Given the description of an element on the screen output the (x, y) to click on. 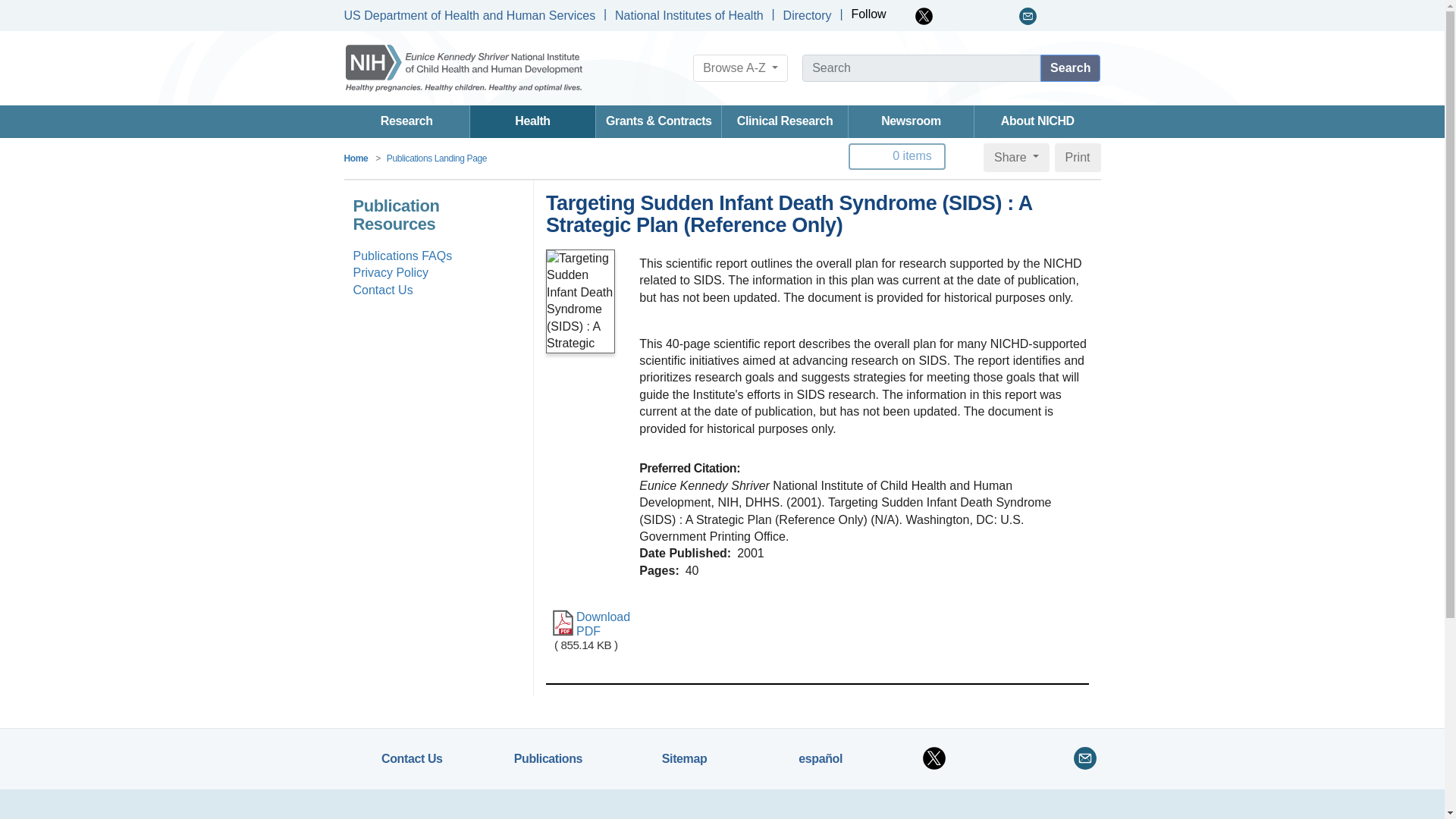
follow us on Instagram (1007, 16)
Directory (807, 15)
Email NICHD (1027, 16)
Browse A-Z Topics (740, 67)
US Department of Health and Human Services (469, 15)
National Institutes of Health (688, 15)
X (924, 16)
Search (1070, 67)
follow us on Facebook (903, 16)
Subscribe (1027, 16)
